Given the description of an element on the screen output the (x, y) to click on. 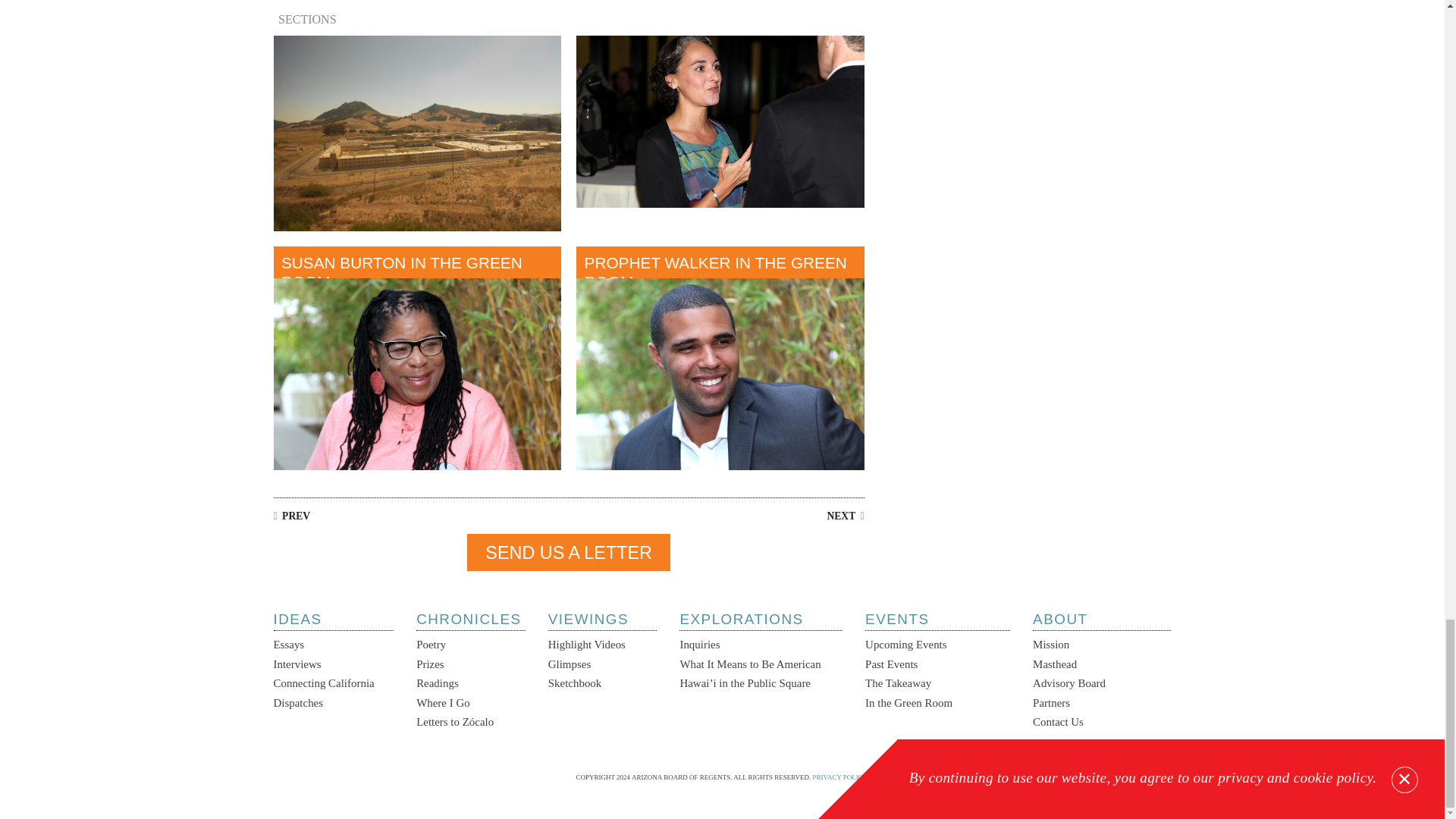
About (1101, 621)
